Given the description of an element on the screen output the (x, y) to click on. 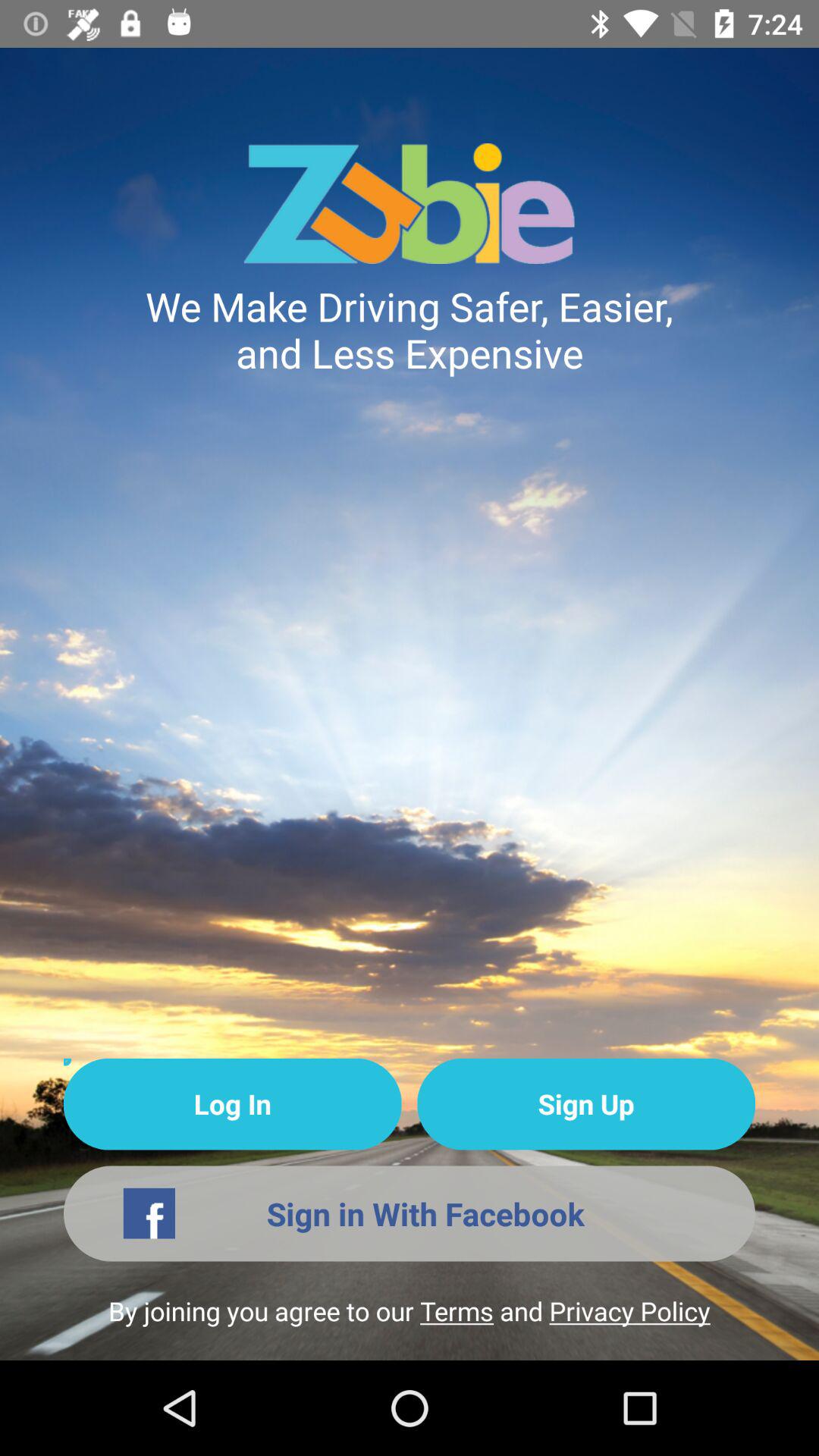
click the sign up icon (586, 1104)
